Given the description of an element on the screen output the (x, y) to click on. 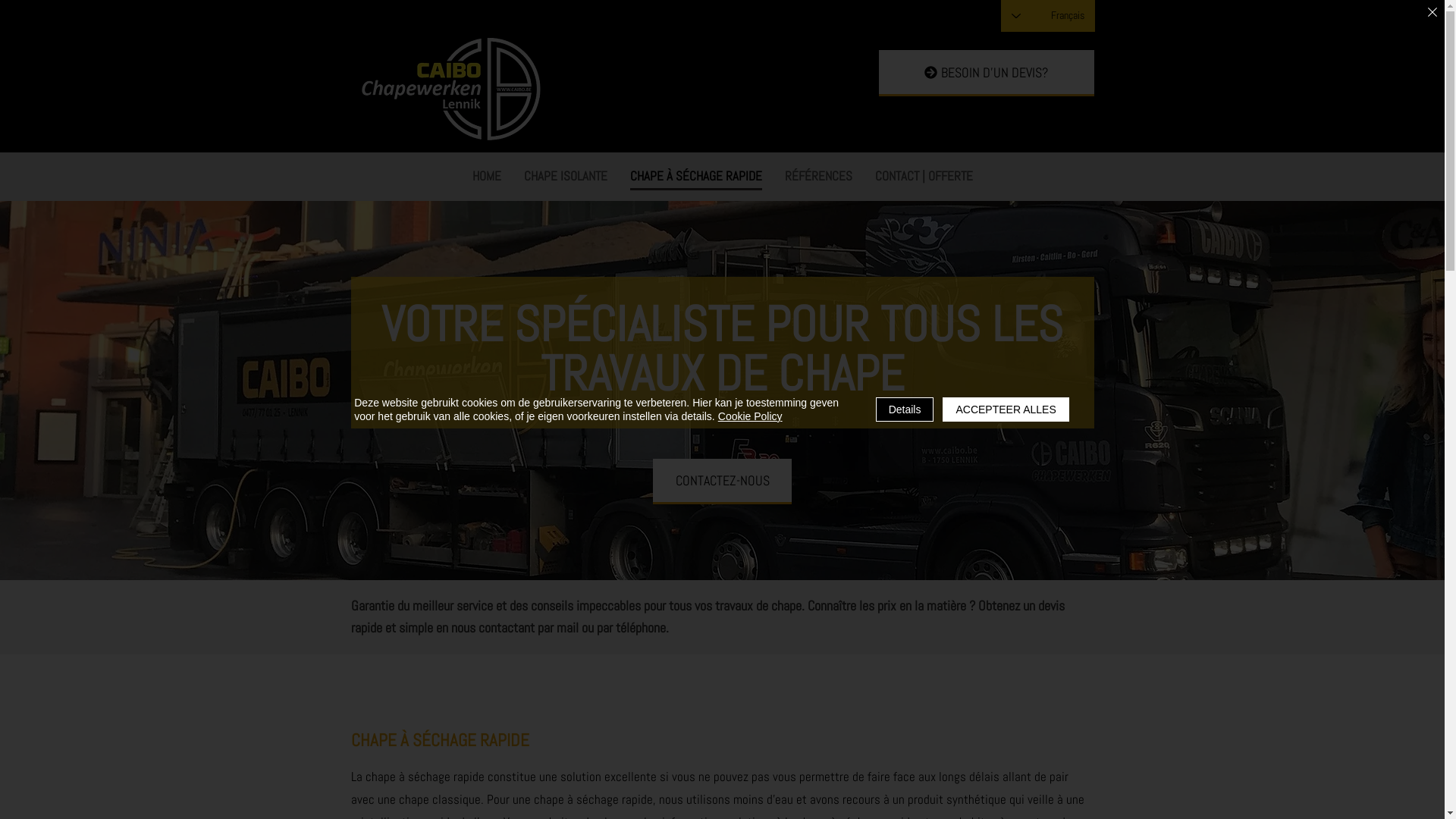
Details Element type: text (904, 409)
CHAPE ISOLANTE Element type: text (564, 175)
CONTACT | OFFERTE Element type: text (923, 175)
ACCEPTEER ALLES Element type: text (1005, 409)
CONTACTEZ-NOUS Element type: text (721, 481)
HOME Element type: text (485, 175)
Cookie Policy Element type: text (750, 416)
BESOIN D'UN DEVIS? Element type: text (985, 73)
